Given the description of an element on the screen output the (x, y) to click on. 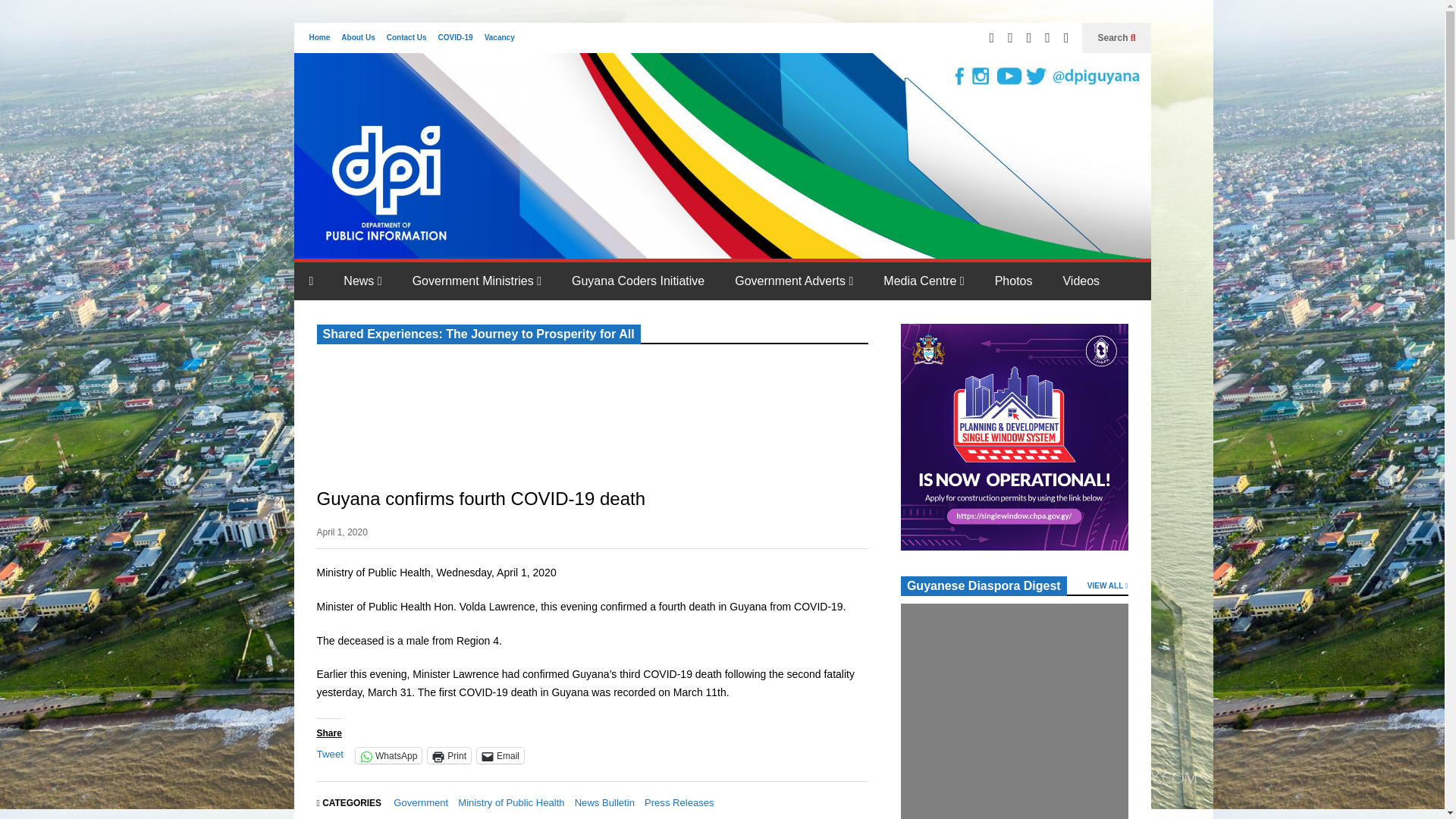
COVID-19 (455, 37)
Search (1116, 37)
Home (319, 37)
About Us (357, 37)
Vacancy (499, 37)
Contact Us (406, 37)
News (362, 281)
Click to share on WhatsApp (388, 755)
Click to print (449, 755)
